Given the description of an element on the screen output the (x, y) to click on. 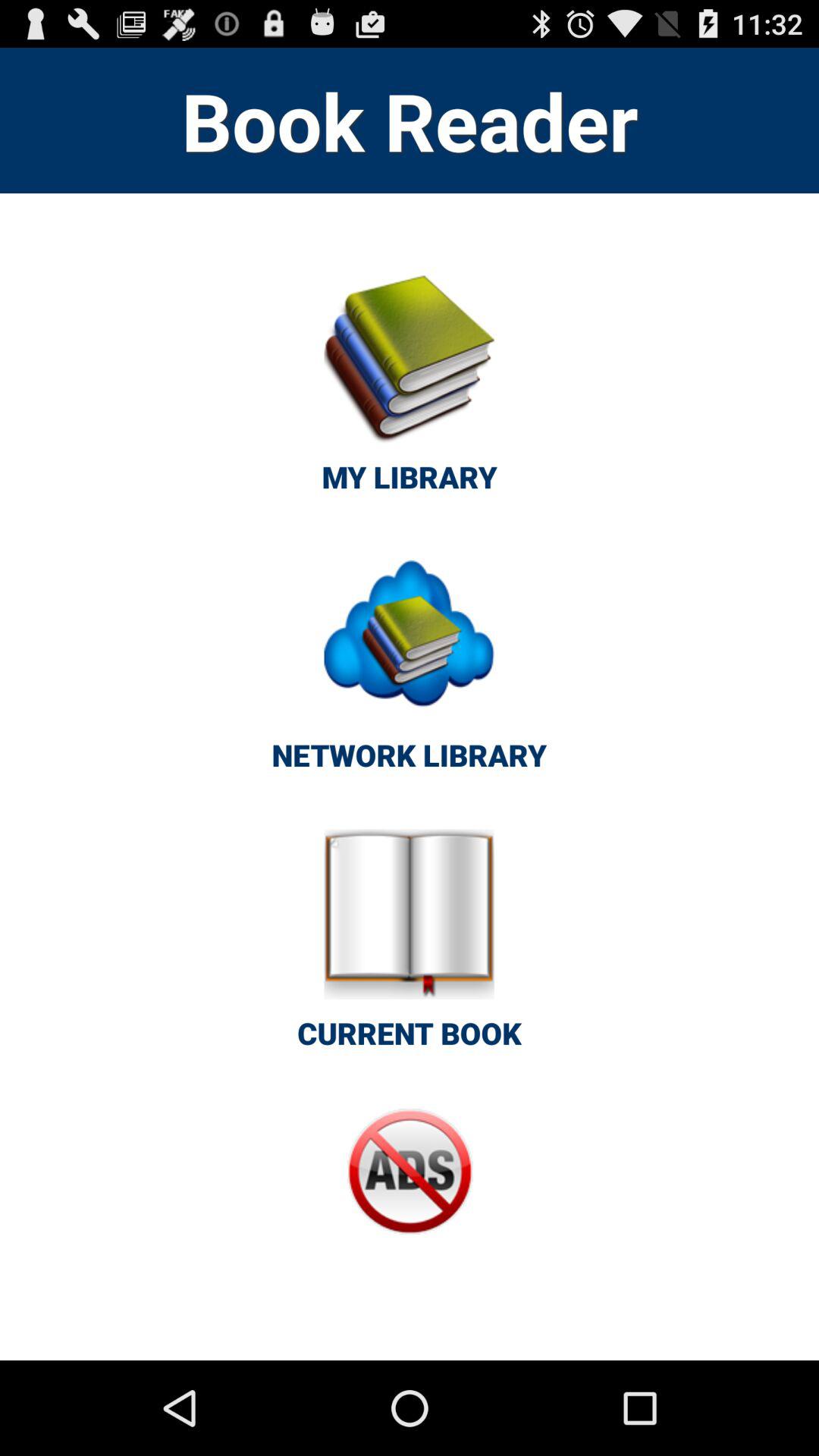
open icon below the network library button (409, 948)
